Given the description of an element on the screen output the (x, y) to click on. 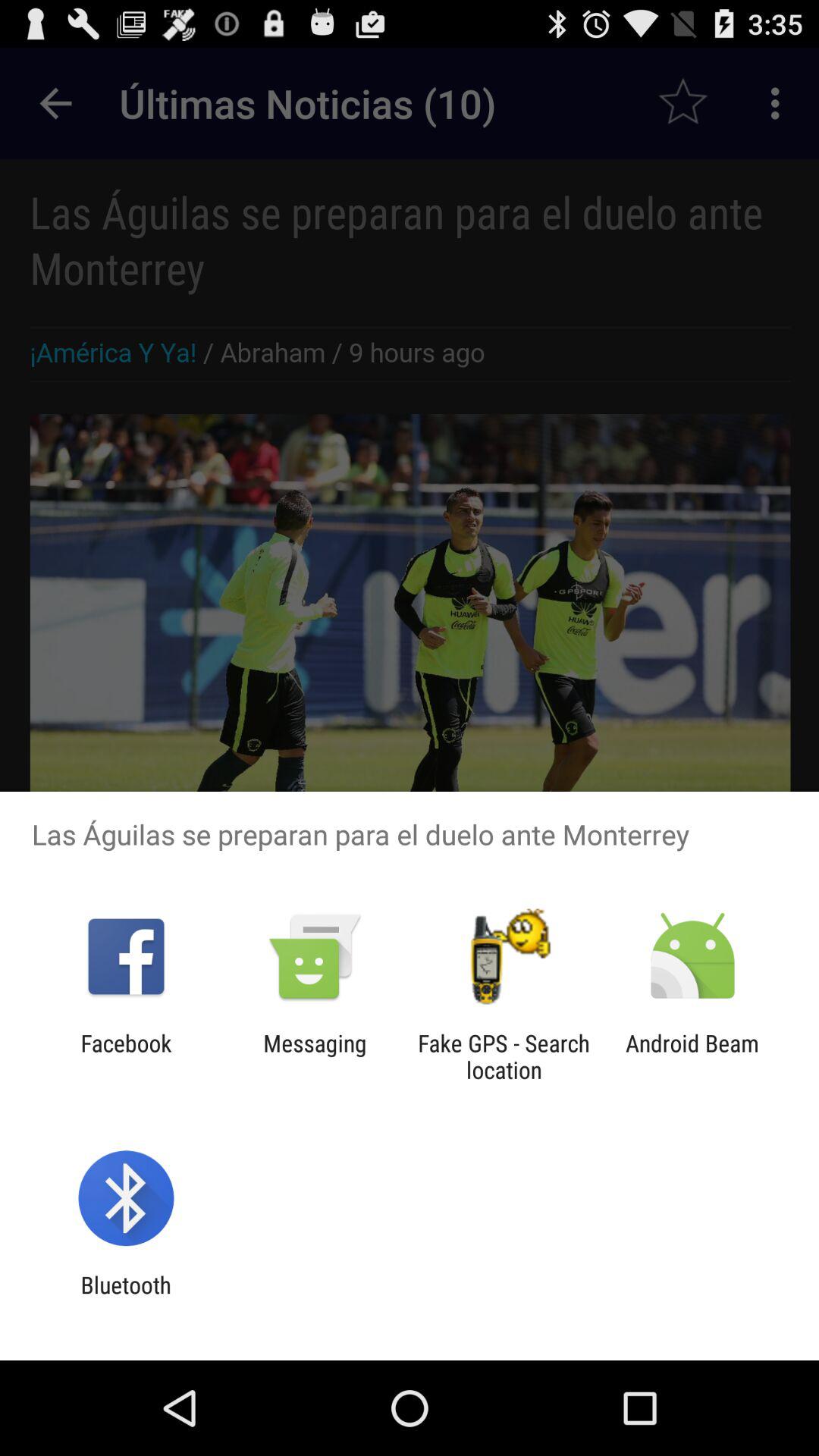
choose item next to fake gps search app (314, 1056)
